Given the description of an element on the screen output the (x, y) to click on. 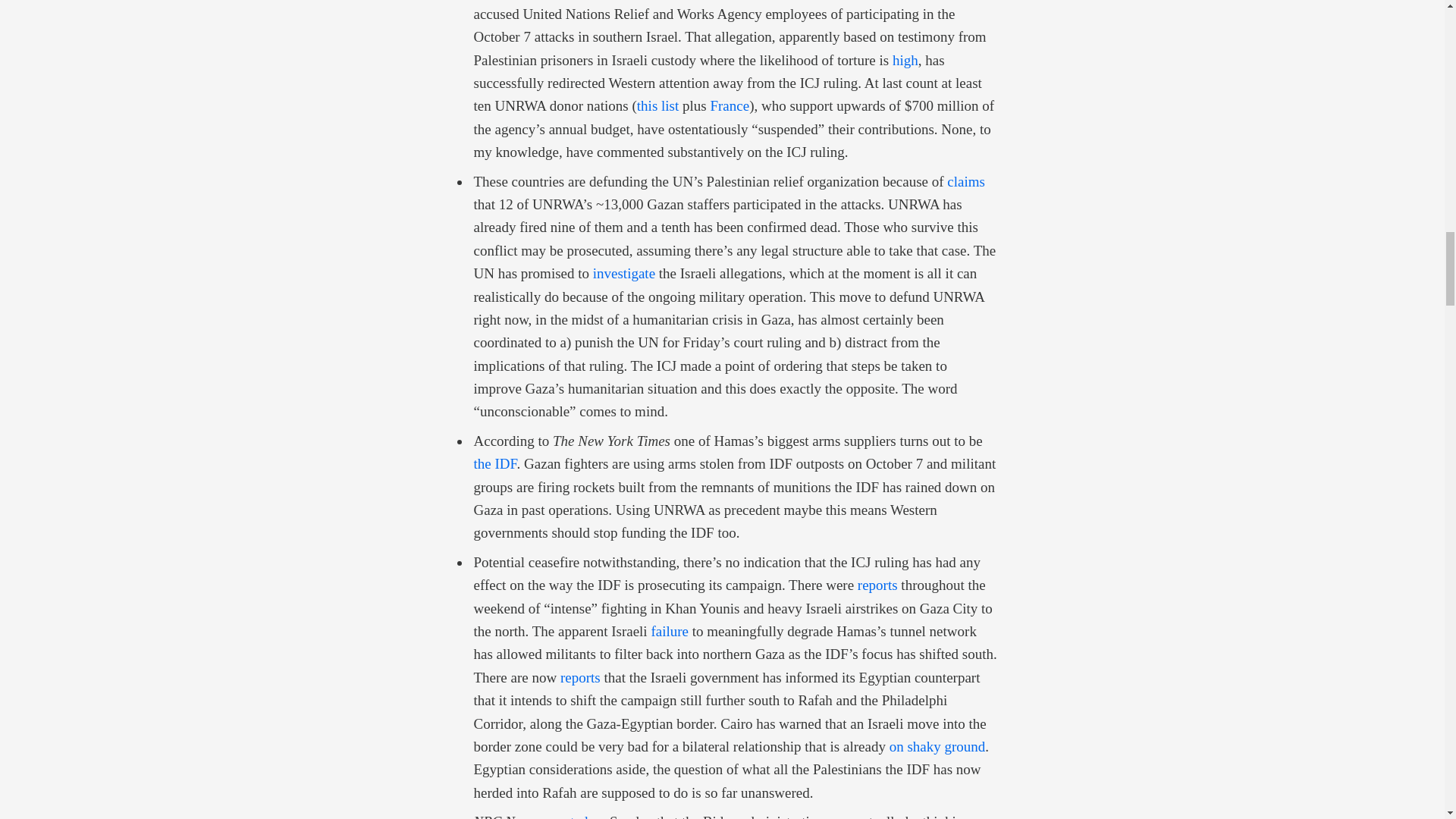
claims (966, 181)
failure (669, 631)
on shaky ground (937, 746)
the IDF (494, 463)
investigate (623, 273)
reports (877, 584)
France (729, 105)
this list (657, 105)
reports (579, 677)
high (905, 59)
